Given the description of an element on the screen output the (x, y) to click on. 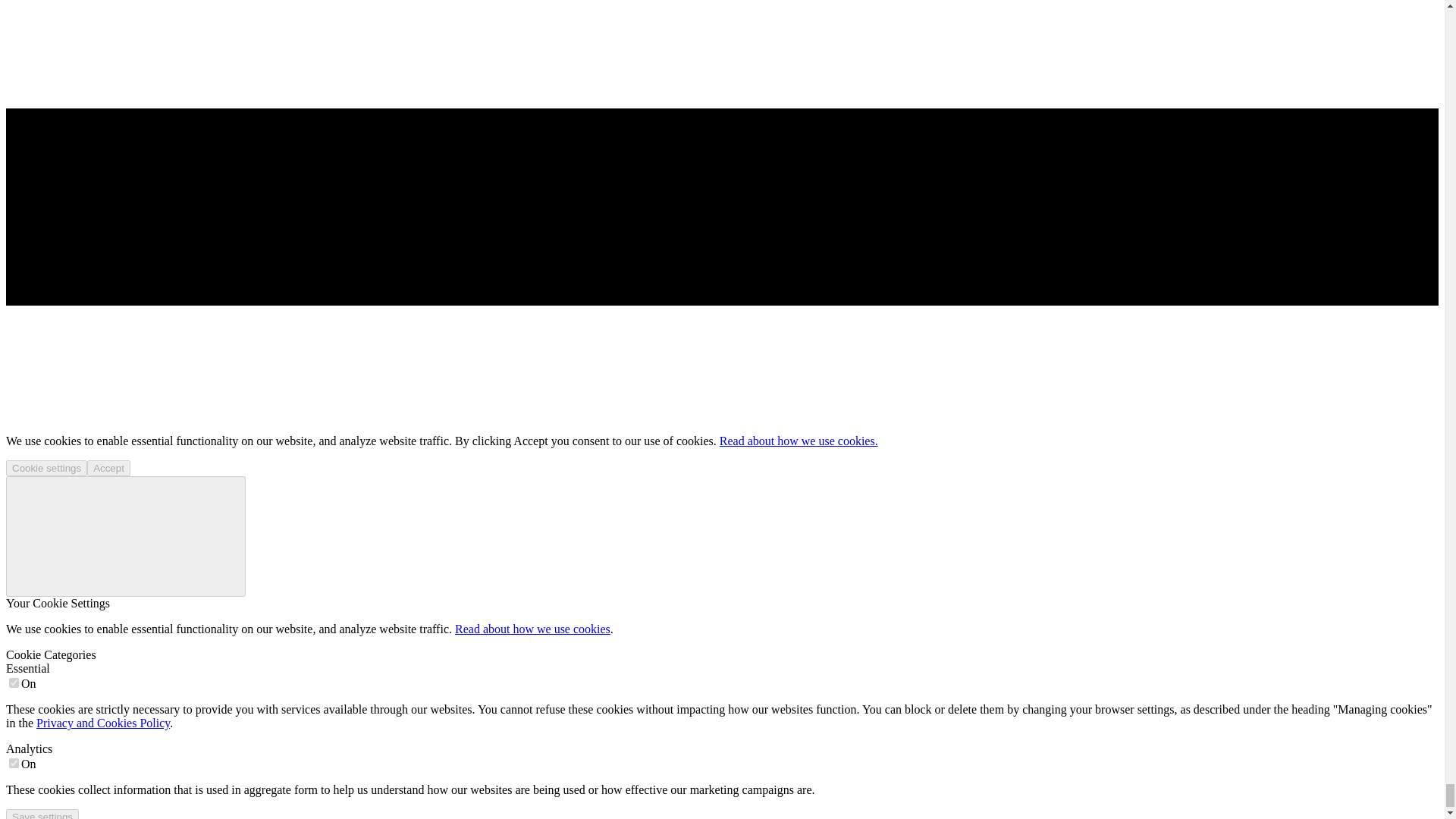
Read about how we use cookies (532, 628)
on (13, 682)
on (13, 763)
Cookie settings (46, 467)
Read about how we use cookies. (798, 440)
Privacy and Cookies Policy (103, 722)
845 825 3115 (38, 185)
Accept (109, 467)
